Given the description of an element on the screen output the (x, y) to click on. 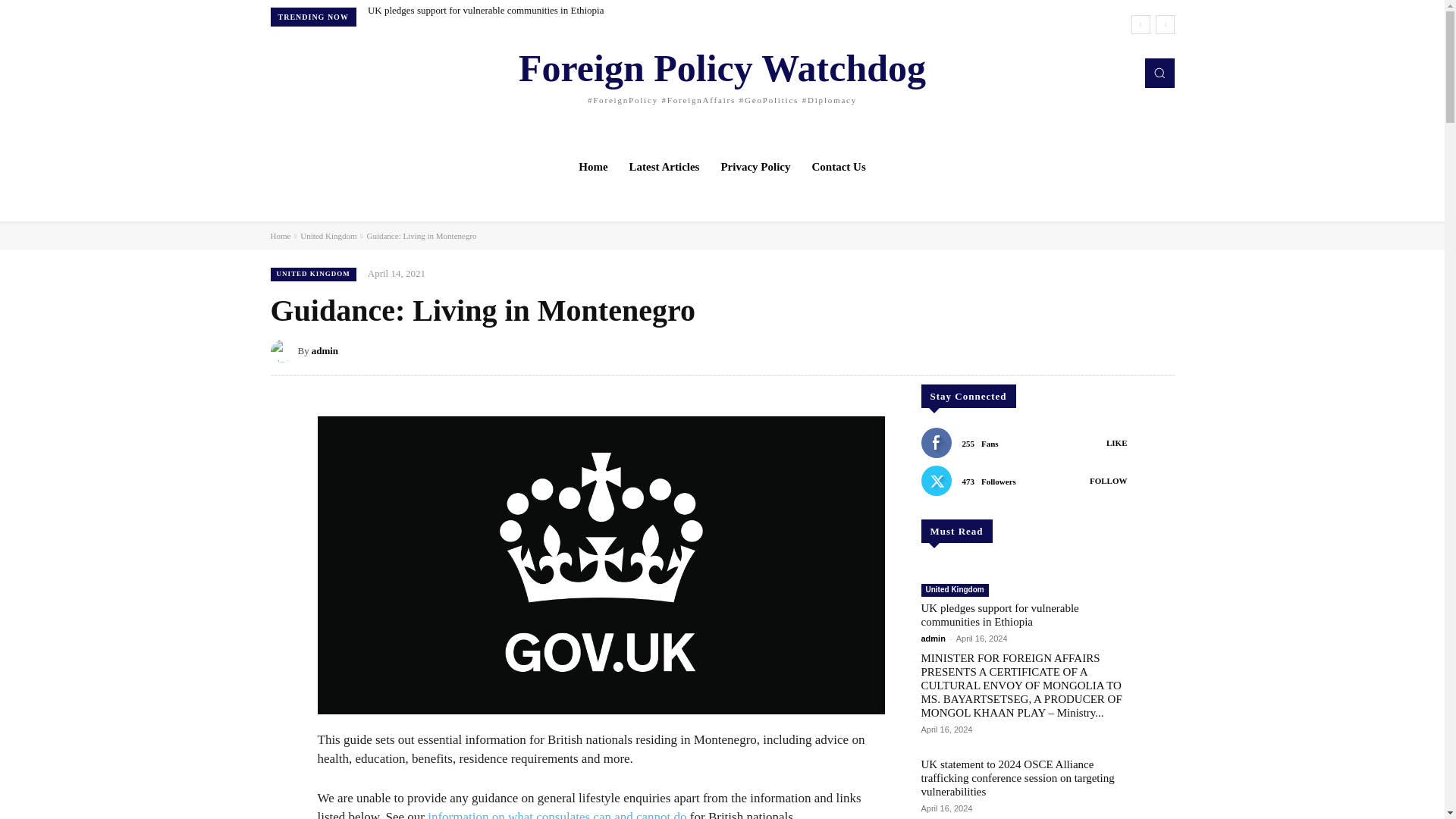
UNITED KINGDOM (312, 273)
Privacy Policy (755, 166)
Home (279, 235)
admin (324, 350)
UK pledges support for vulnerable communities in Ethiopia (486, 9)
Contact Us (839, 166)
Home (592, 166)
United Kingdom (327, 235)
Latest Articles (664, 166)
UK pledges support for vulnerable communities in Ethiopia (486, 9)
